Given the description of an element on the screen output the (x, y) to click on. 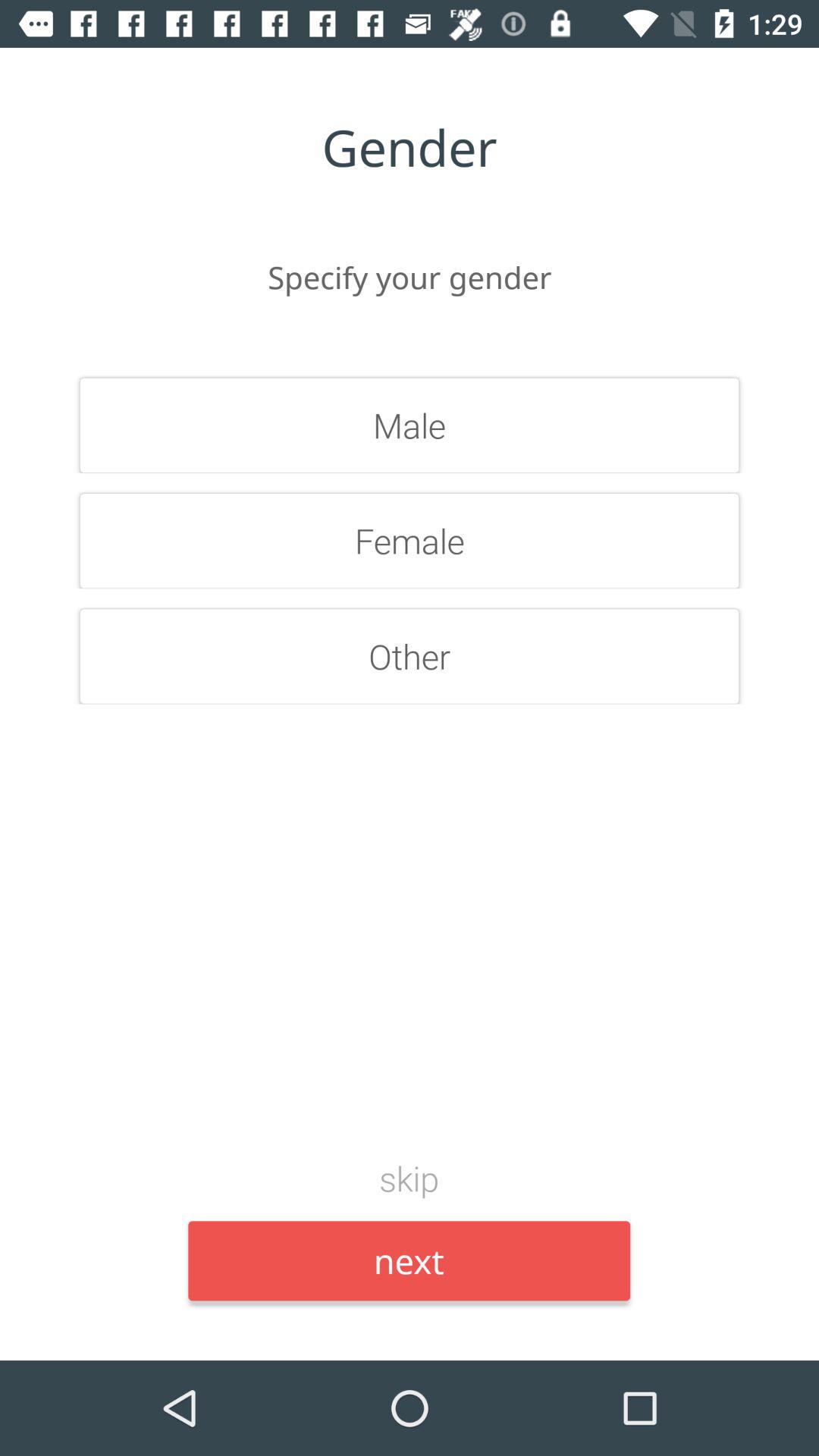
launch male icon (409, 425)
